Given the description of an element on the screen output the (x, y) to click on. 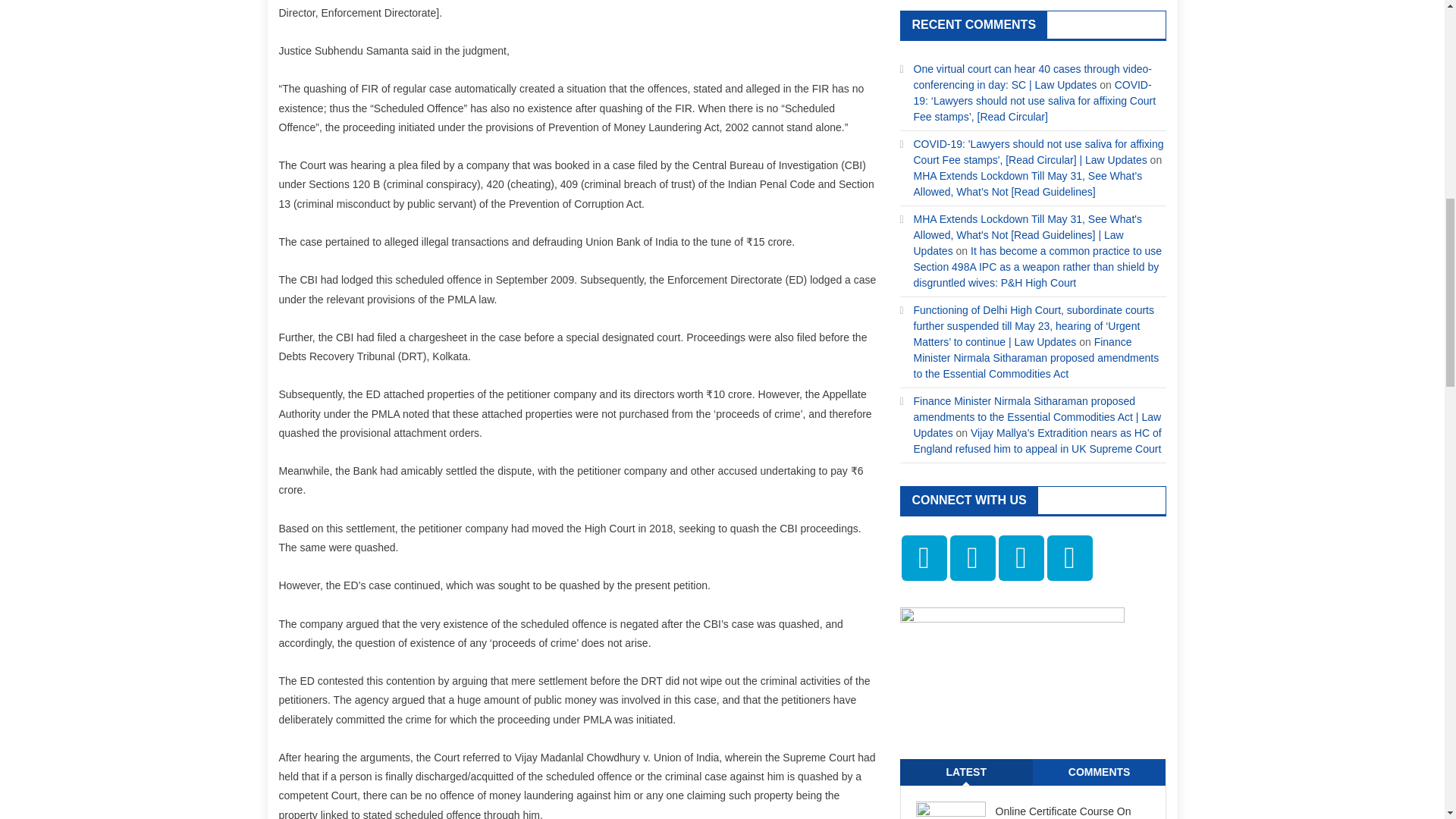
Social Media Icons (1020, 557)
Social Media Icons (971, 557)
Social Media Icons (923, 557)
Social Media Icons (1069, 557)
